Given the description of an element on the screen output the (x, y) to click on. 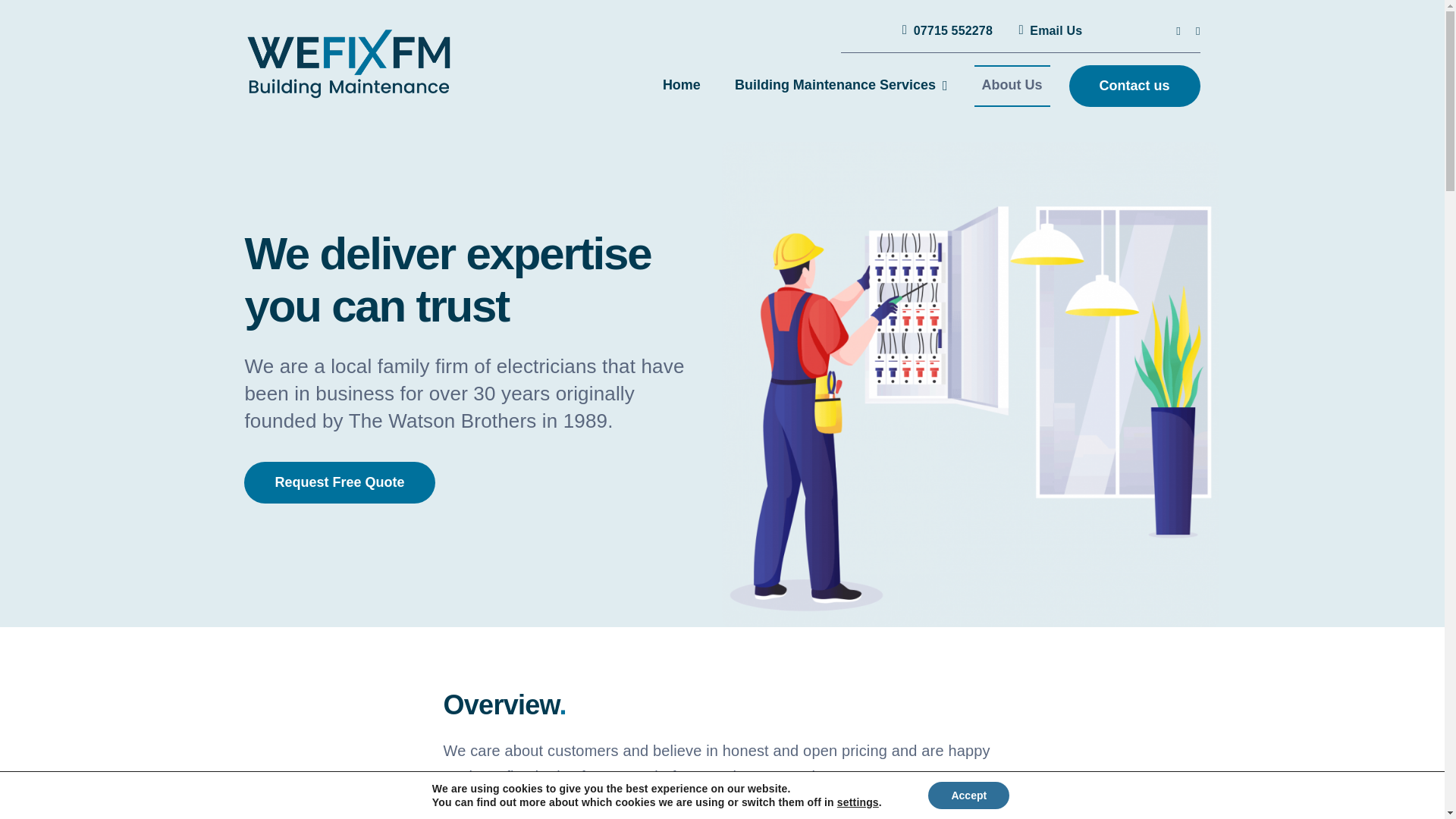
About Us (1011, 86)
Contact us (1133, 86)
Home (681, 86)
Email Us (1046, 30)
07715 552278 (944, 30)
Building Maintenance Services (840, 86)
